Given the description of an element on the screen output the (x, y) to click on. 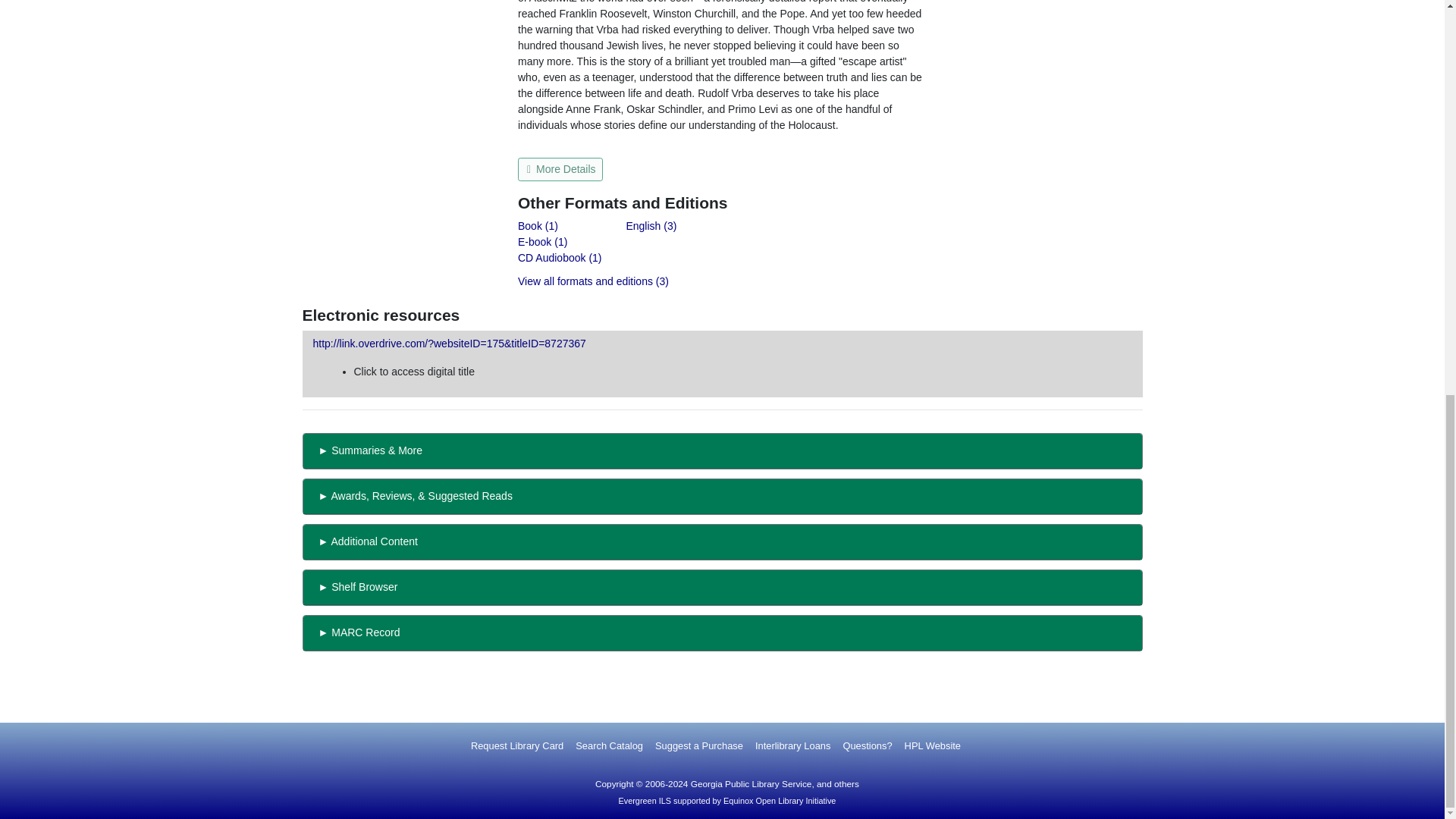
More Details (560, 169)
